Given the description of an element on the screen output the (x, y) to click on. 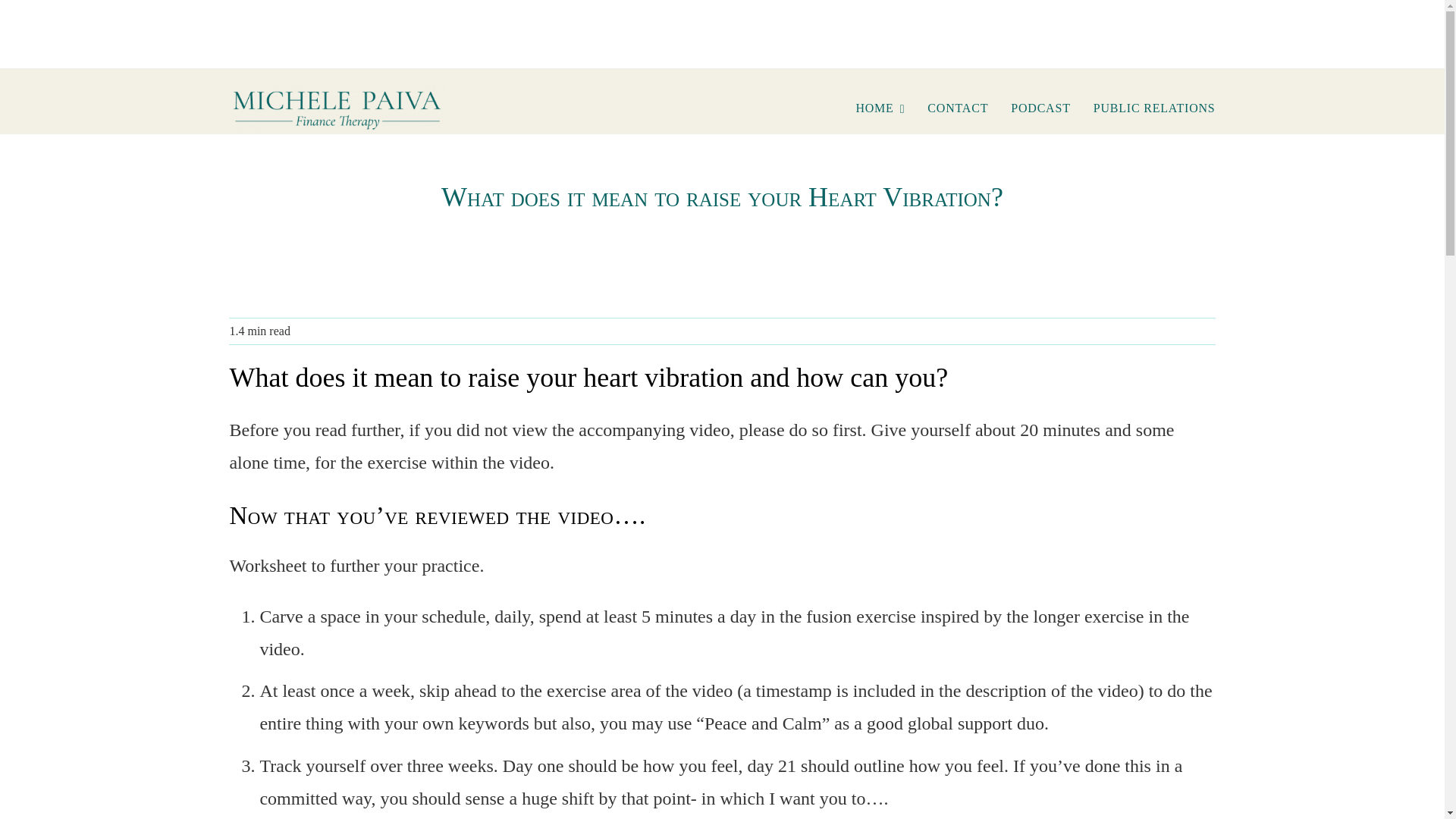
CONTACT (957, 109)
PODCAST (1040, 109)
accompanying video (653, 429)
PUBLIC RELATIONS (1154, 109)
HOME (880, 109)
